Given the description of an element on the screen output the (x, y) to click on. 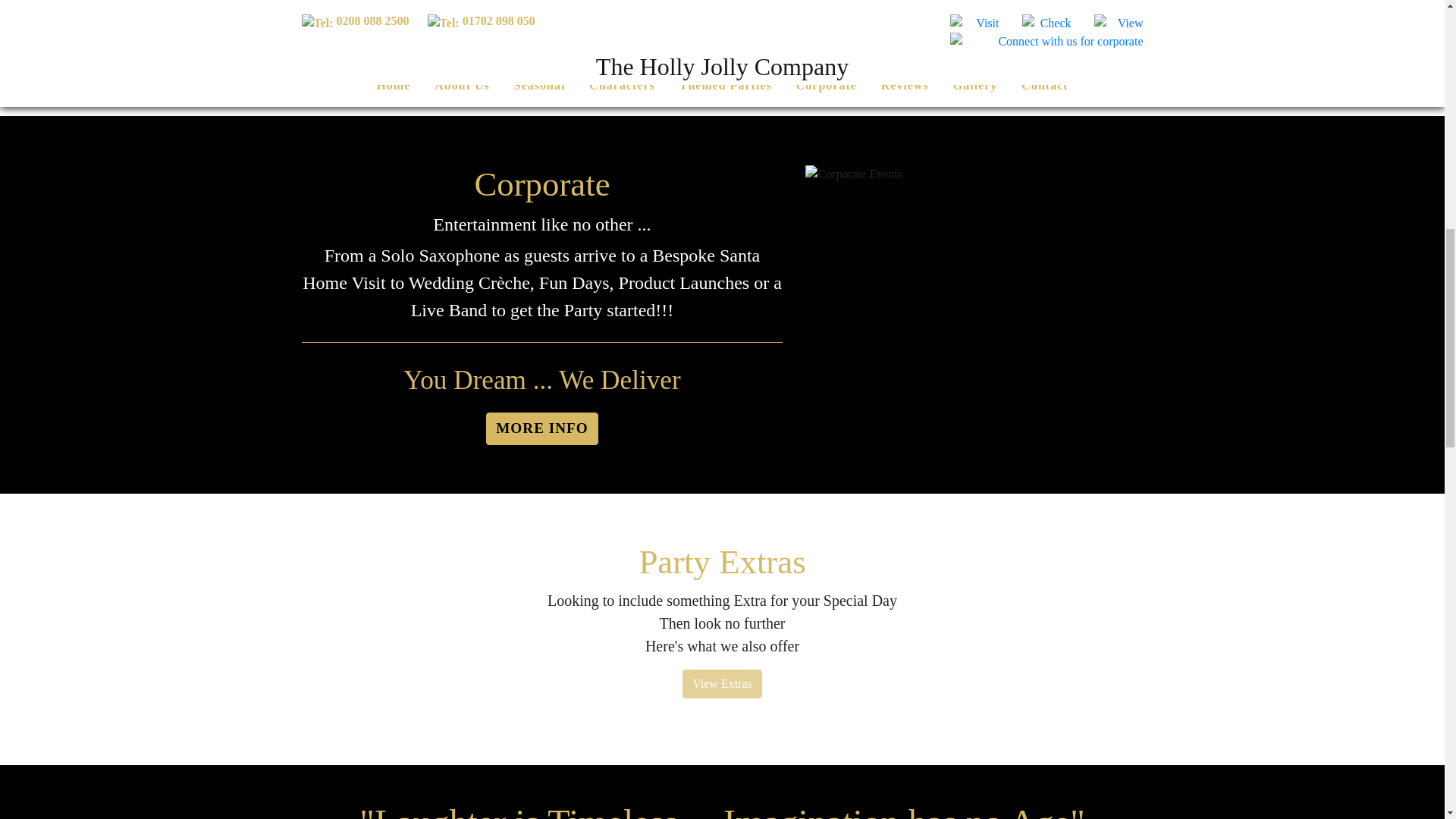
MORE INFO (653, 51)
MORE INFO (541, 428)
MORE INFO (507, 51)
View Extras (721, 683)
MORE INFO (363, 51)
MORE INFO (799, 22)
